Given the description of an element on the screen output the (x, y) to click on. 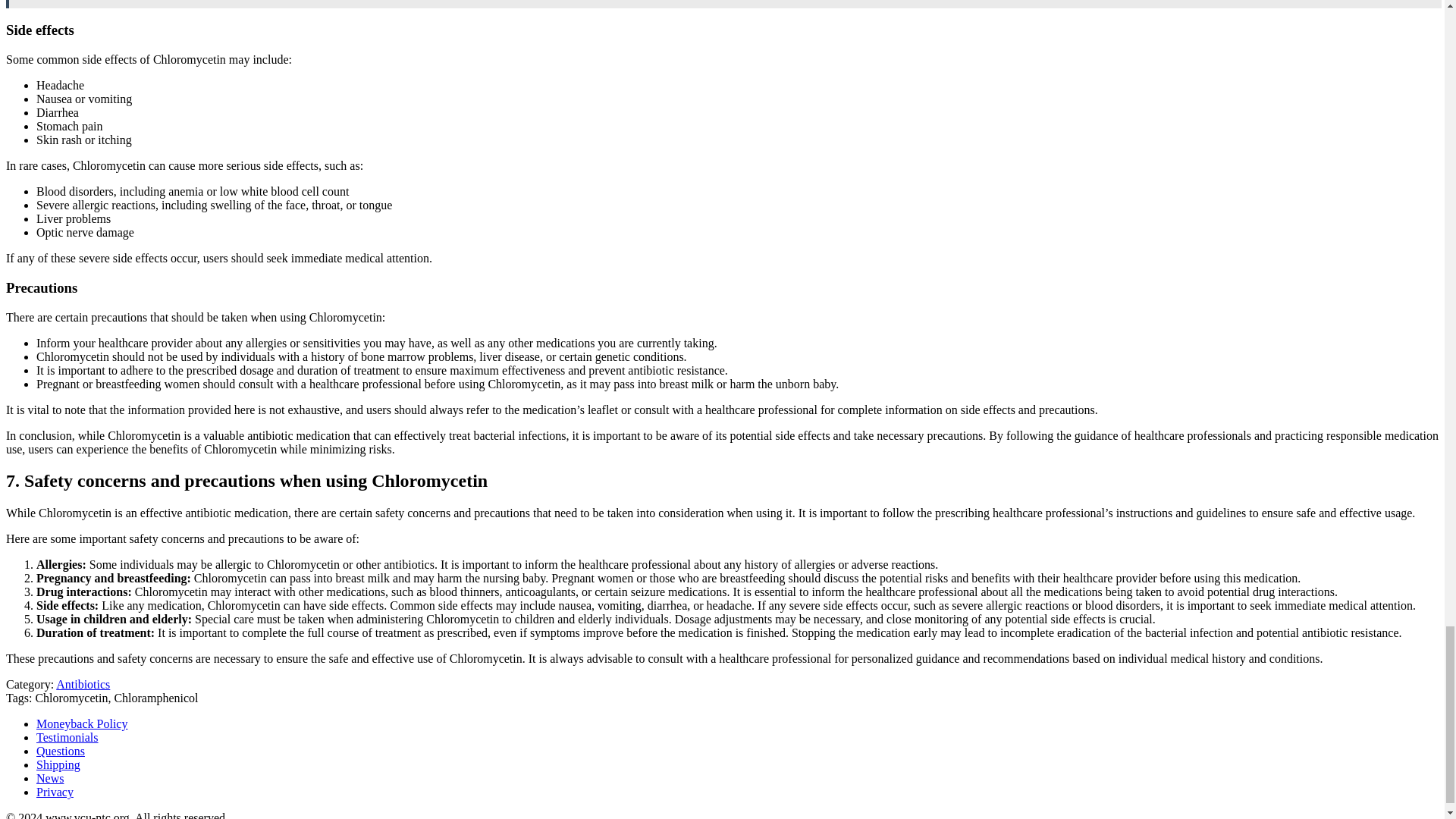
News (50, 778)
Shipping (58, 764)
Moneyback Policy (82, 723)
Privacy (55, 791)
Antibiotics (83, 684)
Testimonials (67, 737)
Questions (60, 750)
